Given the description of an element on the screen output the (x, y) to click on. 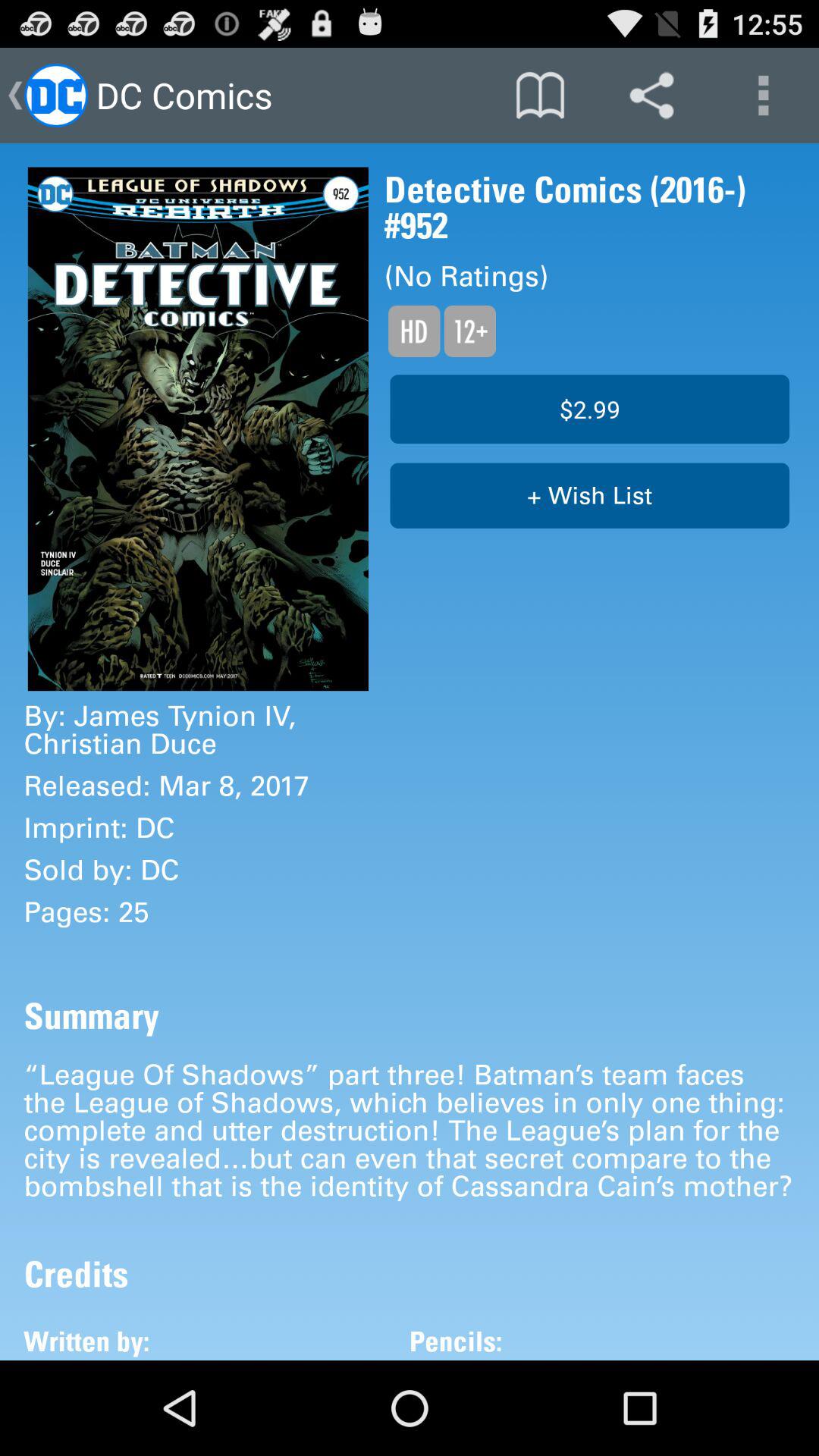
turn on item above by james tynion icon (197, 429)
